Given the description of an element on the screen output the (x, y) to click on. 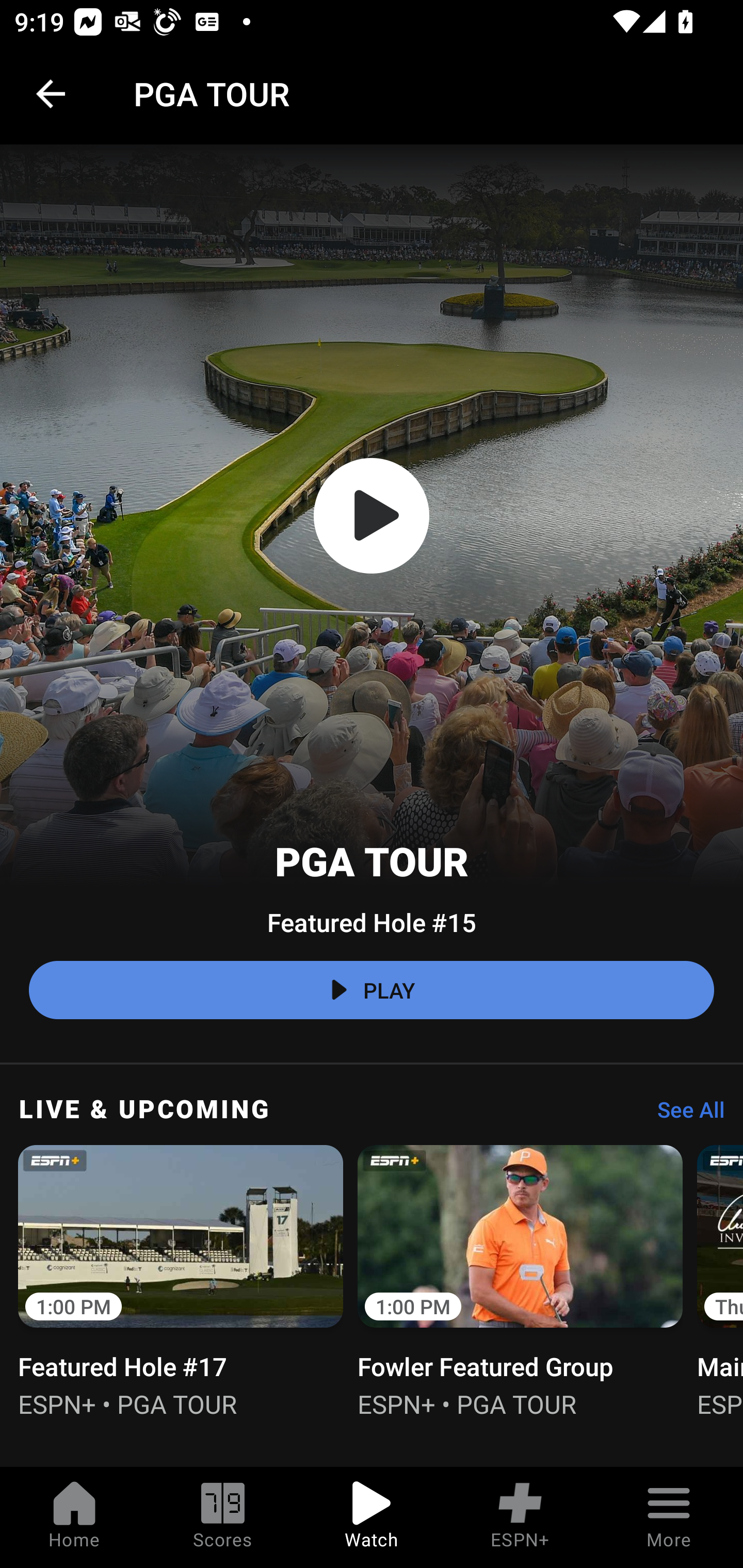
 (371, 515)
PLAY (371, 990)
See All (683, 1114)
1:00 PM Featured Hole #17 ESPN+ • PGA TOUR (180, 1279)
1:00 PM Fowler Featured Group ESPN+ • PGA TOUR (519, 1279)
Home (74, 1517)
Scores (222, 1517)
ESPN+ (519, 1517)
More (668, 1517)
